Given the description of an element on the screen output the (x, y) to click on. 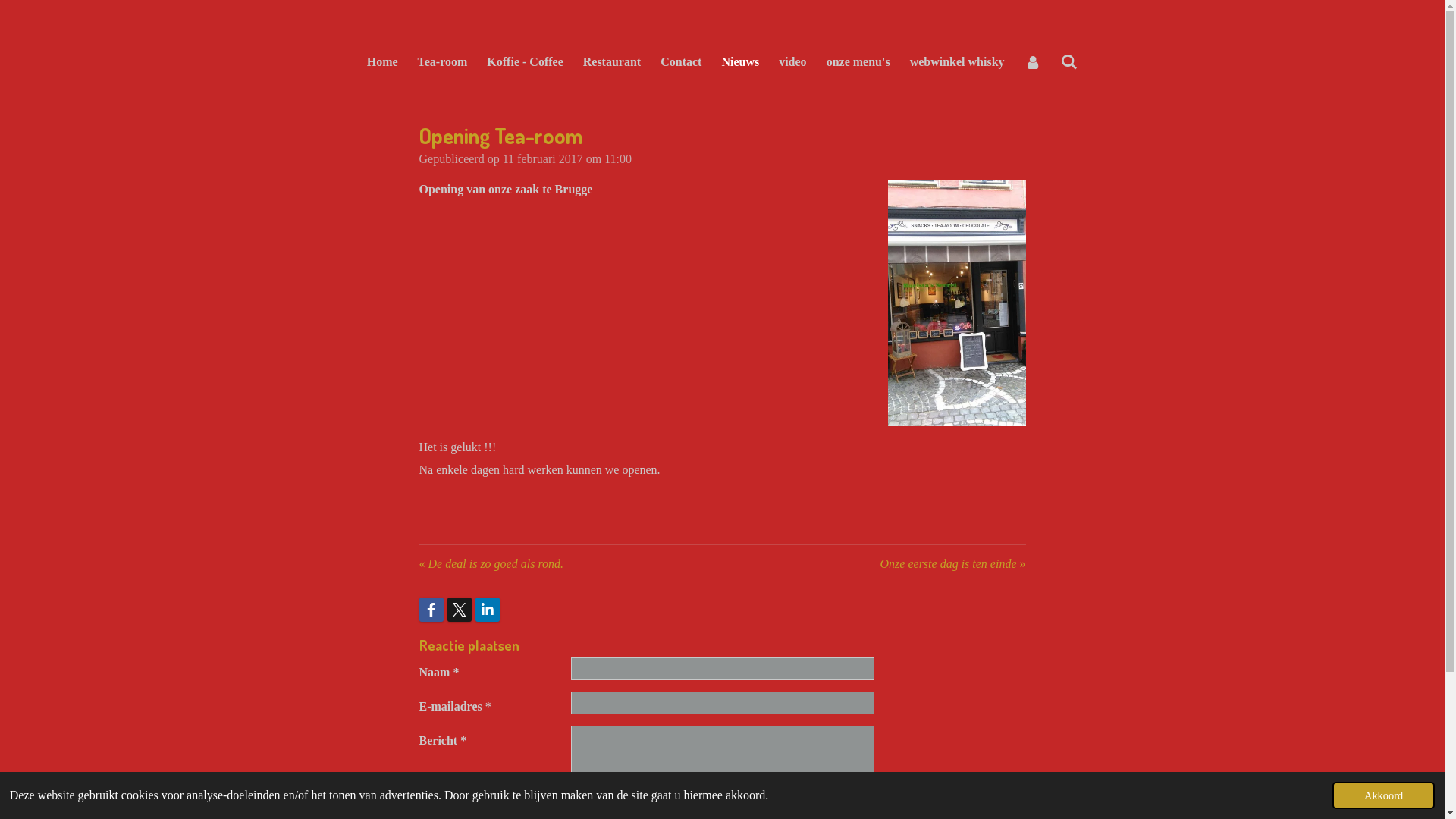
Koffie - Coffee Element type: text (524, 62)
Account Element type: hover (1032, 62)
Restaurant Element type: text (611, 62)
Contact Element type: text (680, 62)
Nieuws Element type: text (739, 62)
onze menu's Element type: text (858, 62)
Akkoord Element type: text (1383, 795)
Toon grotere versie Element type: hover (956, 303)
Tea-room Element type: text (442, 62)
video Element type: text (791, 62)
Zoeken Element type: hover (1069, 62)
Home Element type: text (382, 62)
webwinkel whisky Element type: text (957, 62)
